Given the description of an element on the screen output the (x, y) to click on. 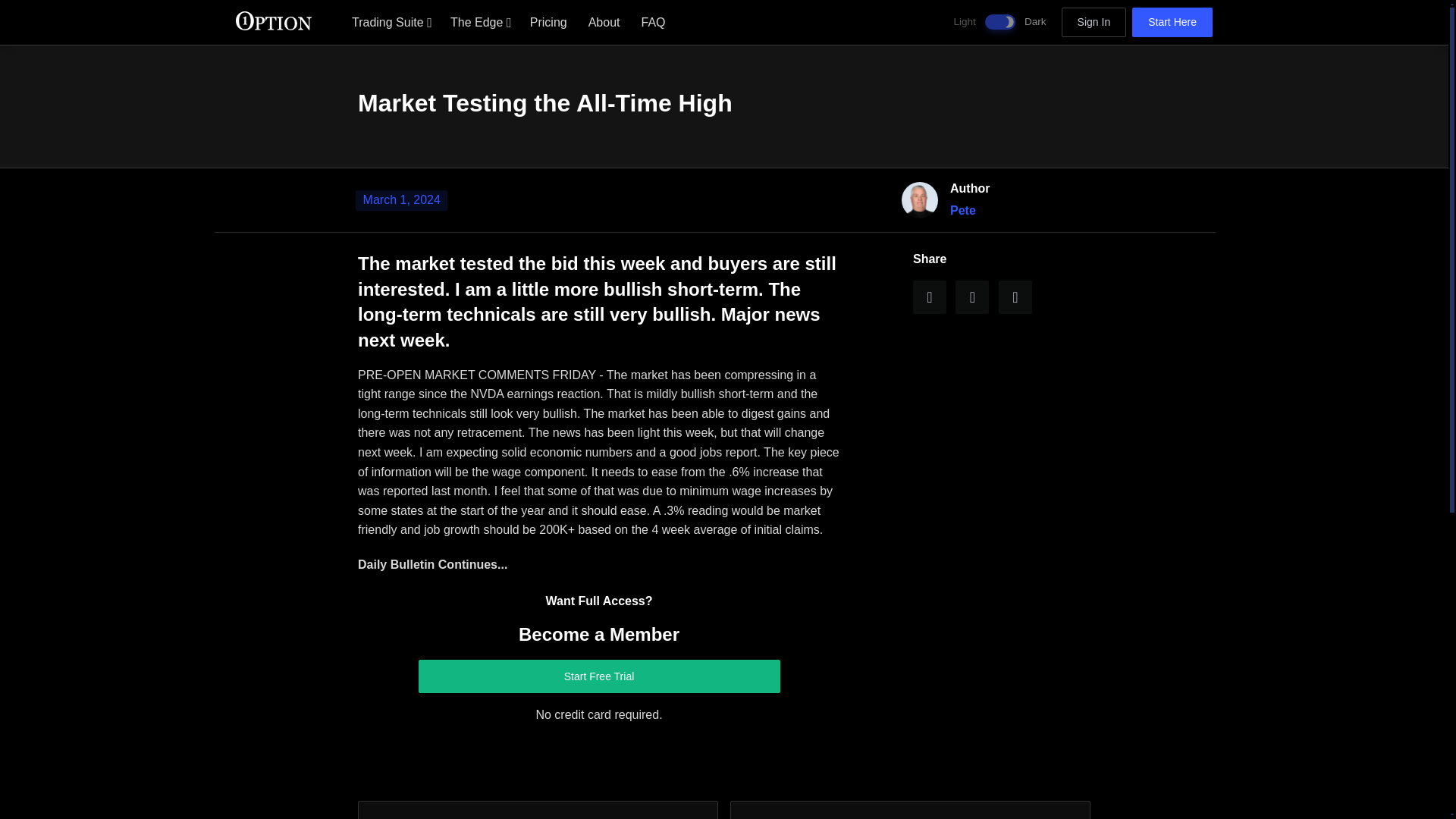
on (999, 21)
Start Free Trial (599, 676)
About (604, 21)
Trading Suite (389, 21)
The Edge (479, 21)
Pete (962, 210)
FAQ (653, 21)
Start Here (1172, 22)
Pricing (548, 21)
Sign In (1093, 22)
